Given the description of an element on the screen output the (x, y) to click on. 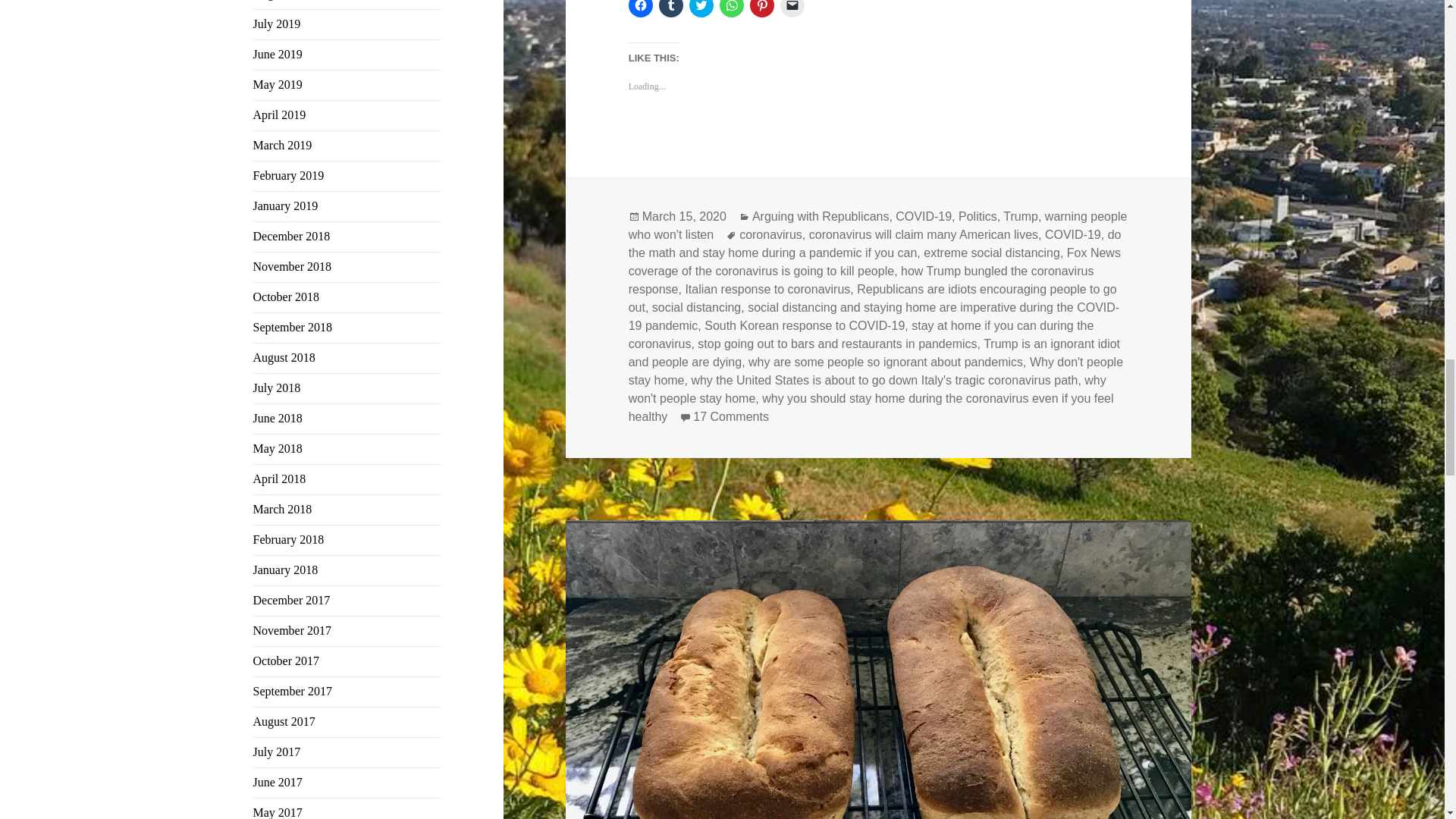
Click to share on Facebook (640, 8)
Click to share on WhatsApp (731, 8)
Click to email a link to a friend (792, 8)
Click to share on Tumblr (670, 8)
Click to share on Pinterest (761, 8)
Click to share on Twitter (700, 8)
